Given the description of an element on the screen output the (x, y) to click on. 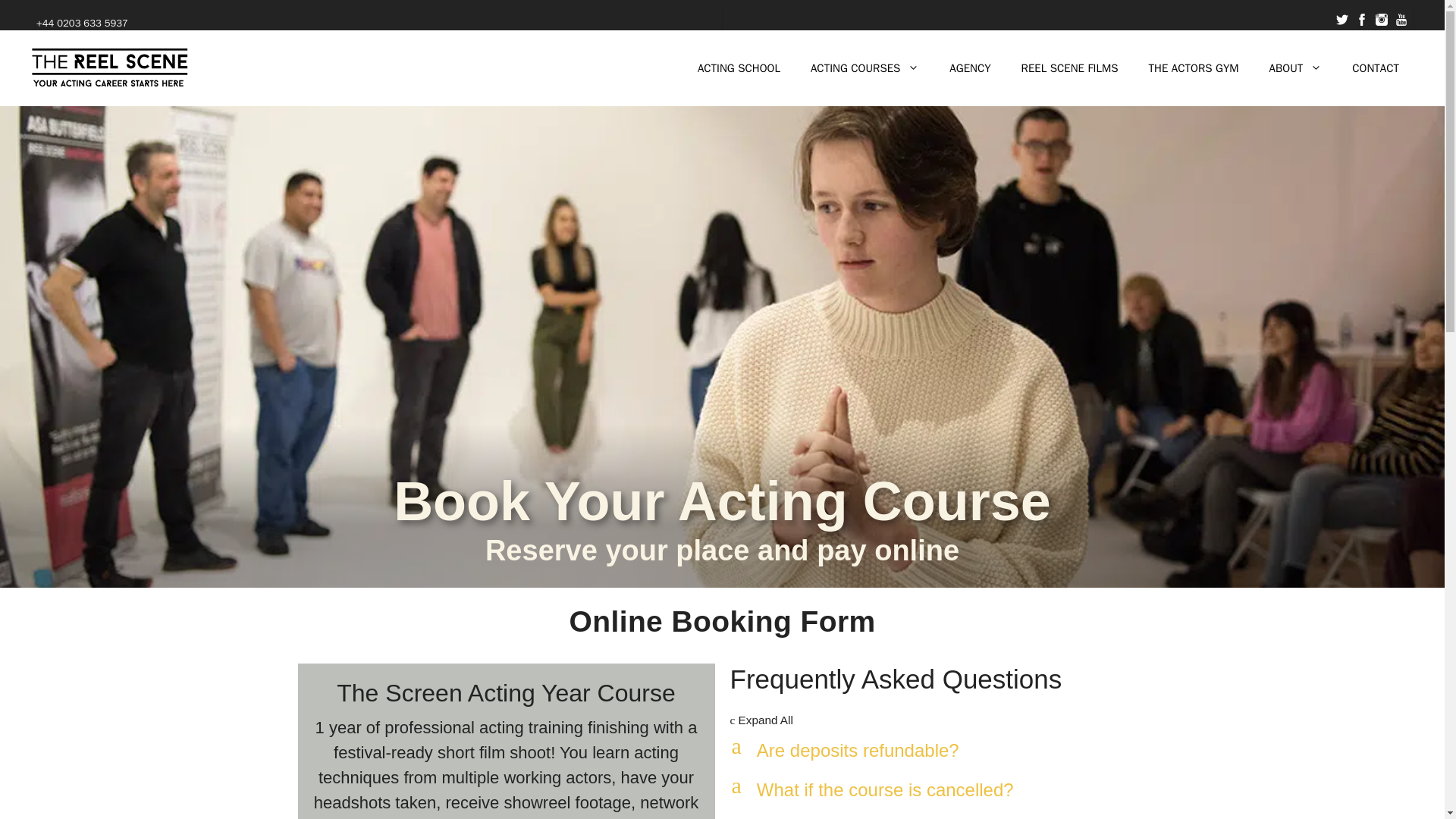
REEL SCENE FILMS (1070, 67)
ACTING SCHOOL (738, 67)
THE ACTORS GYM (1193, 67)
ABOUT (1295, 67)
CONTACT (1374, 67)
AGENCY (970, 67)
ACTING COURSES (864, 67)
